Given the description of an element on the screen output the (x, y) to click on. 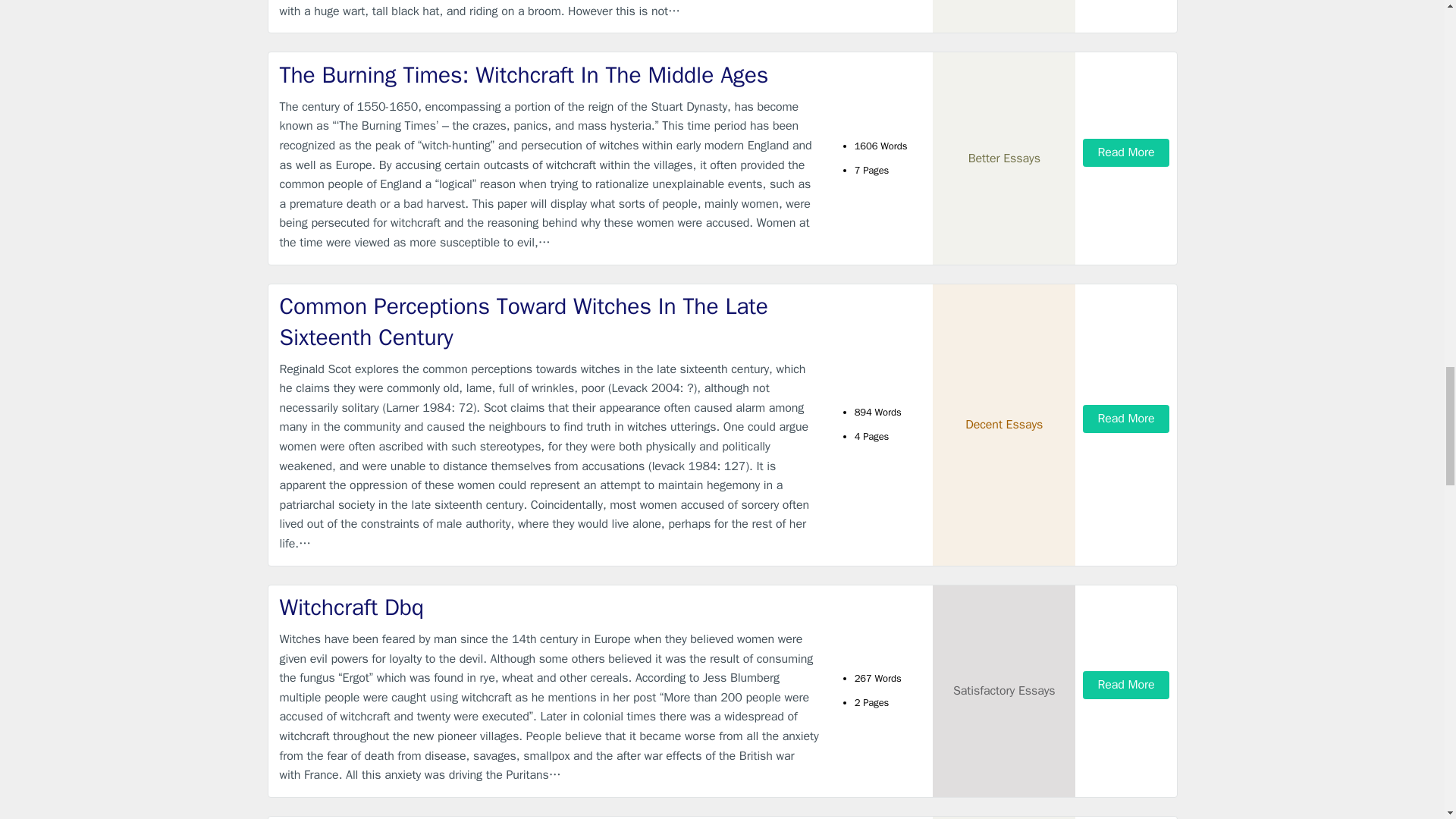
Read More (1126, 418)
Read More (1126, 152)
The Burning Times: Witchcraft In The Middle Ages (548, 74)
Read More (1126, 684)
Witchcraft Dbq (548, 607)
